Given the description of an element on the screen output the (x, y) to click on. 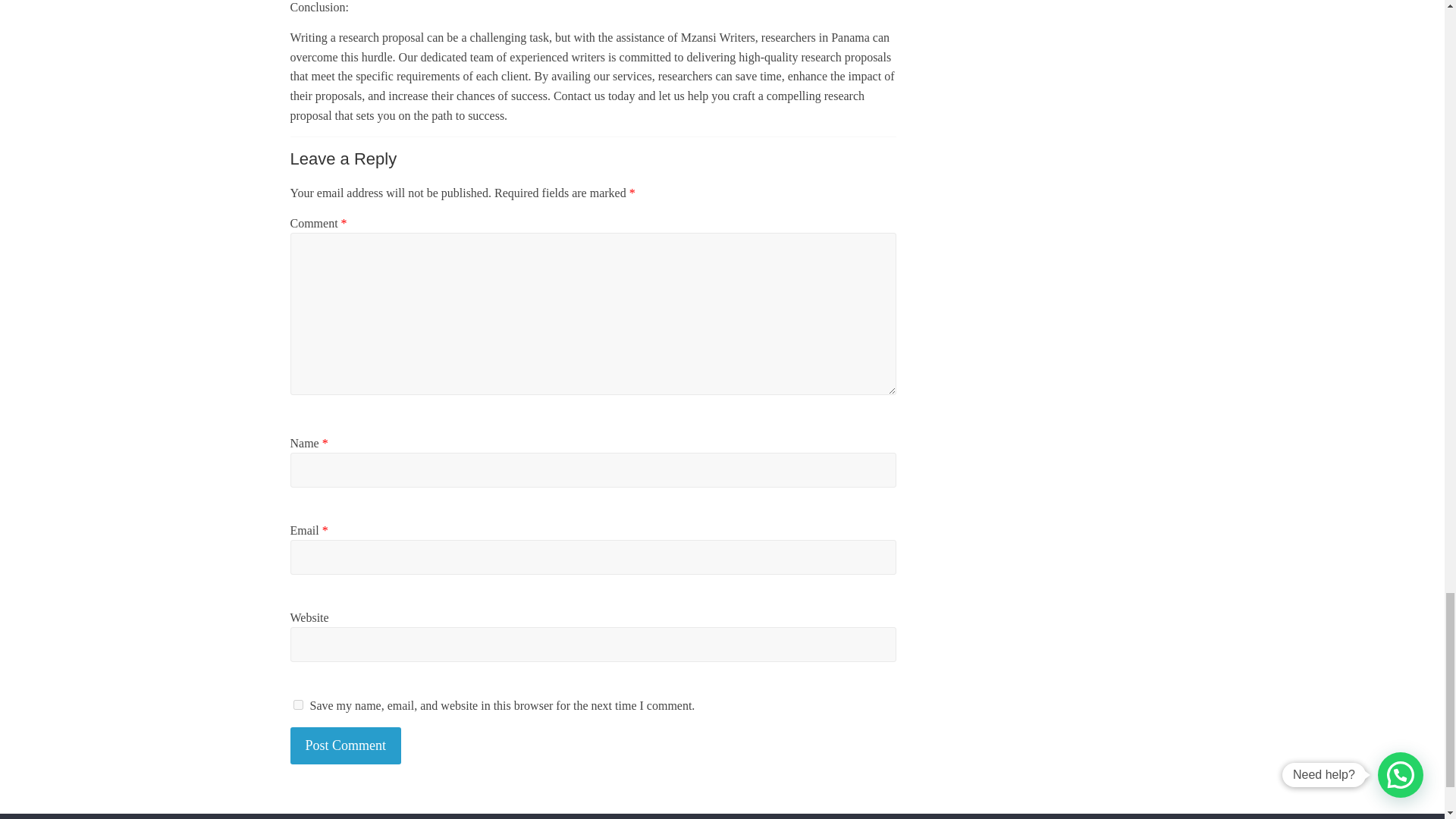
Post Comment (345, 745)
yes (297, 705)
Post Comment (345, 745)
